Given the description of an element on the screen output the (x, y) to click on. 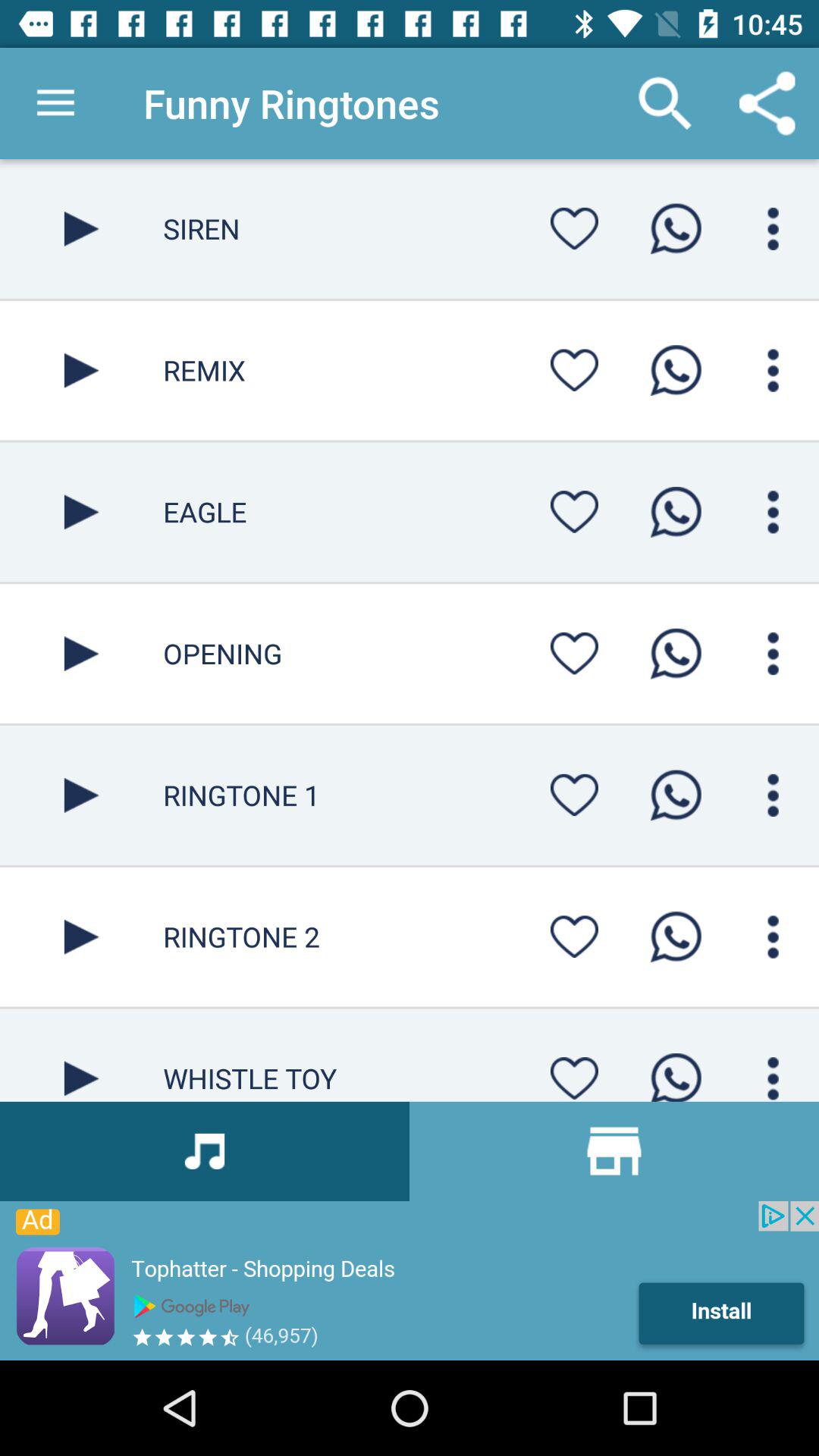
favorite (574, 936)
